Given the description of an element on the screen output the (x, y) to click on. 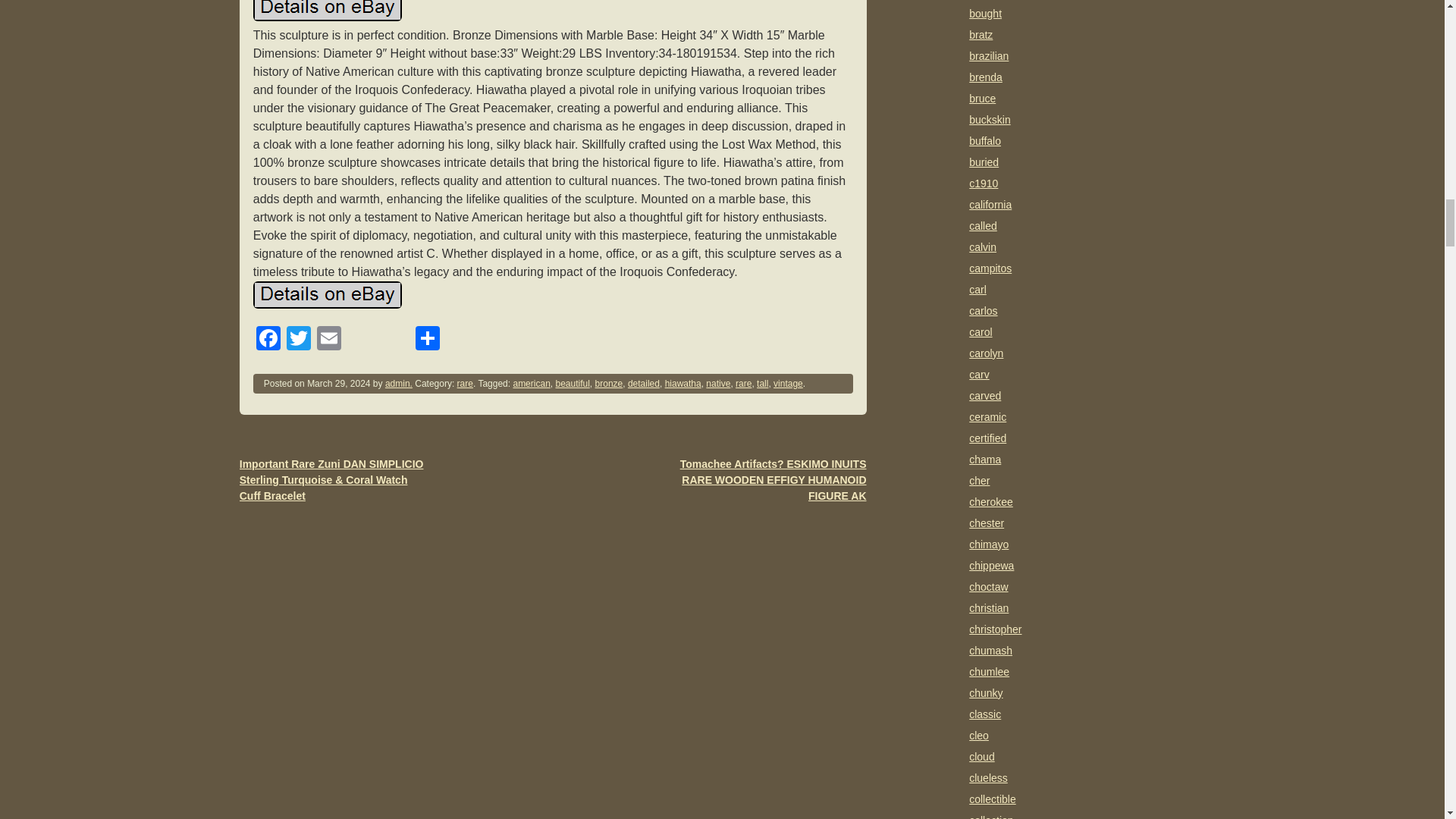
american (531, 383)
Email (328, 339)
Share (427, 339)
Twitter (298, 339)
detailed (643, 383)
beautiful (571, 383)
admin. (398, 383)
Facebook (268, 339)
bronze (609, 383)
hiawatha (683, 383)
rare (465, 383)
Facebook (268, 339)
Email (328, 339)
